Given the description of an element on the screen output the (x, y) to click on. 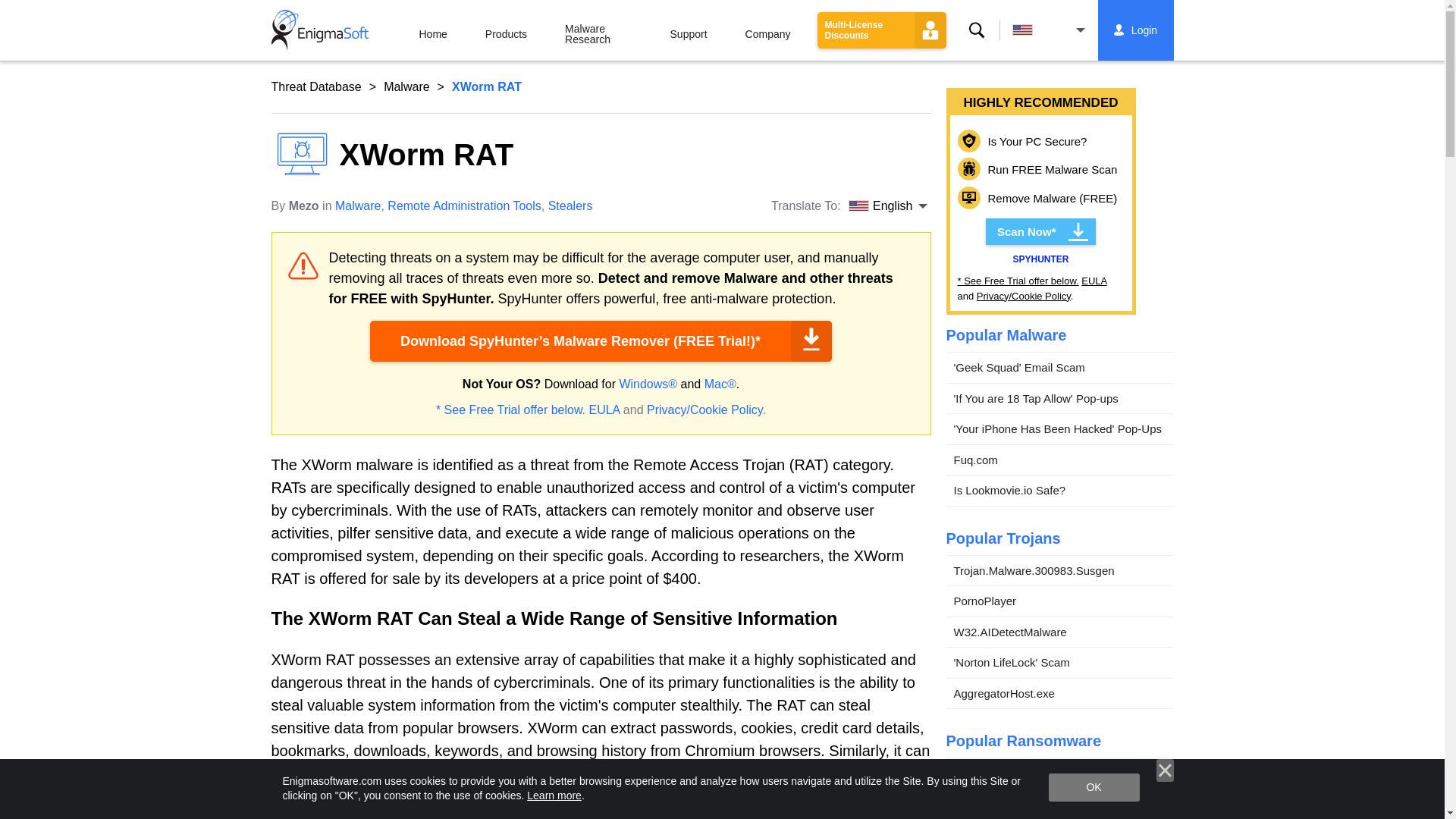
Search (975, 29)
Products (505, 30)
Login (1135, 30)
Company (767, 30)
English (1048, 29)
Home (432, 30)
OK (1093, 787)
Multi-License Discounts (881, 30)
Support (688, 30)
